Given the description of an element on the screen output the (x, y) to click on. 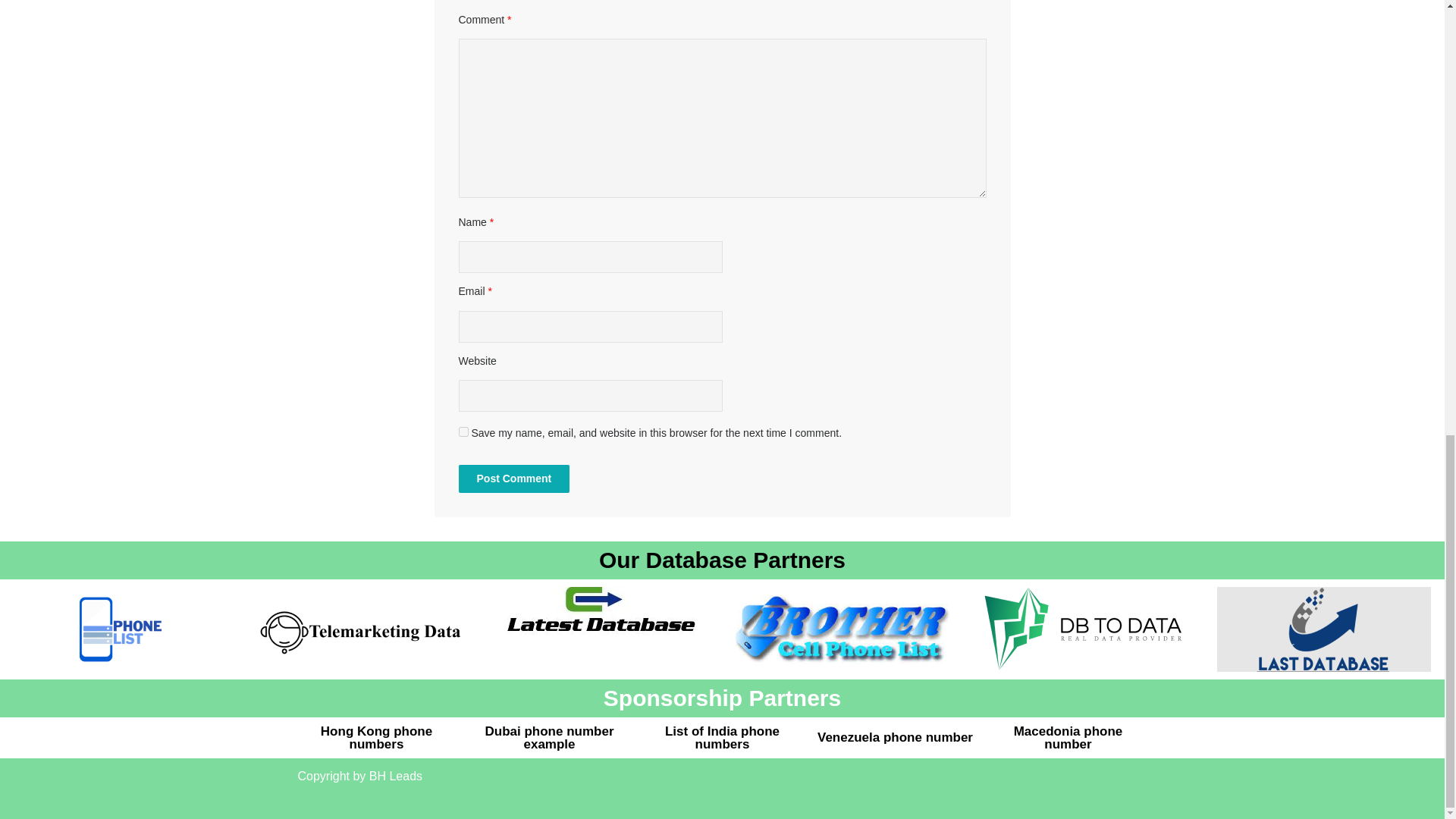
yes (462, 431)
Post Comment (513, 479)
Post Comment (513, 479)
